Given the description of an element on the screen output the (x, y) to click on. 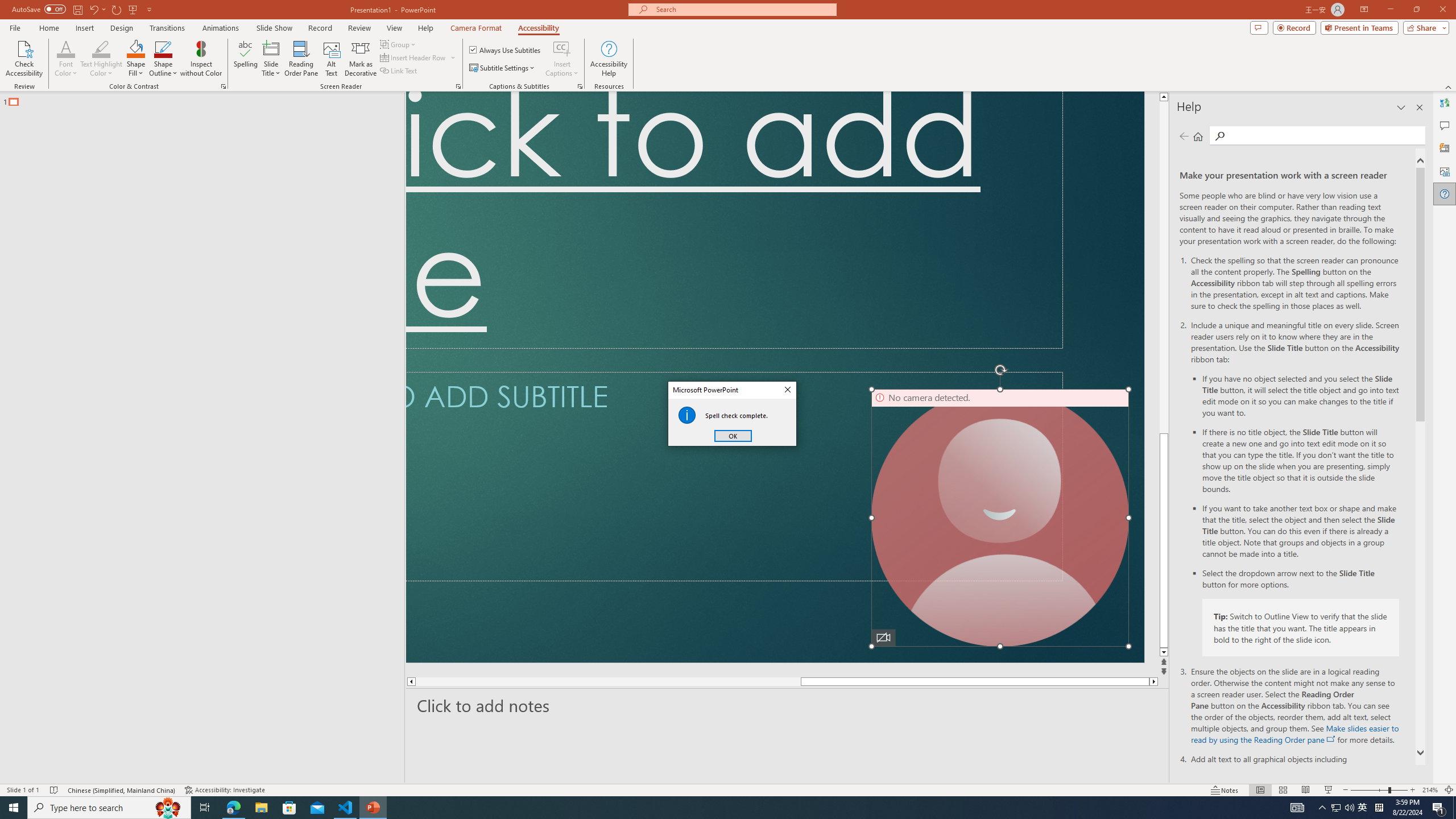
Alt Text (1444, 170)
Spelling... (245, 58)
Running applications (707, 807)
Class: Static (686, 415)
Shape Outline Blue, Accent 1 (163, 48)
